Given the description of an element on the screen output the (x, y) to click on. 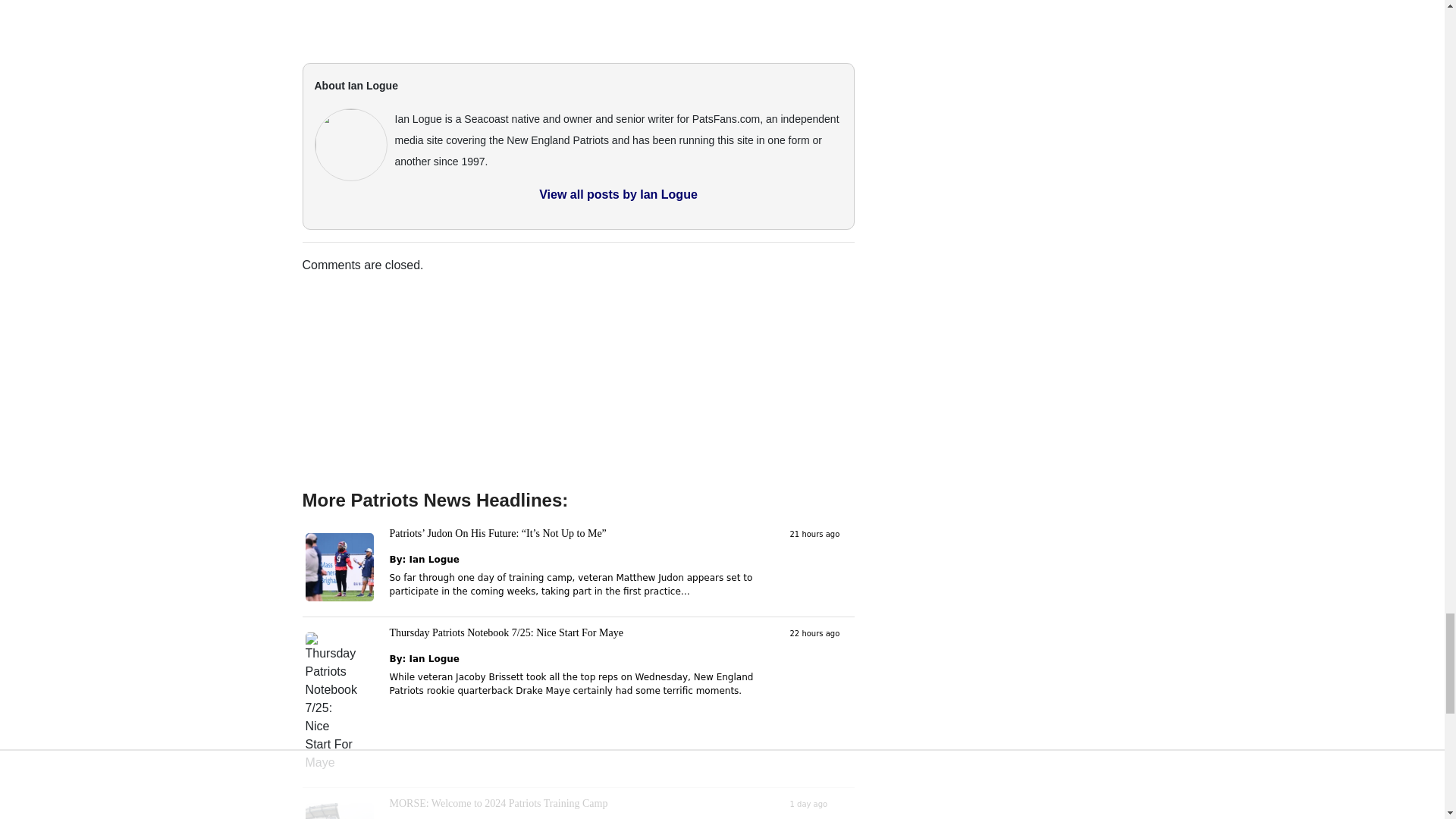
Ian Logue (433, 658)
Ian Logue (433, 559)
MORSE: Welcome to 2024 Patriots Training Camp (499, 803)
